Given the description of an element on the screen output the (x, y) to click on. 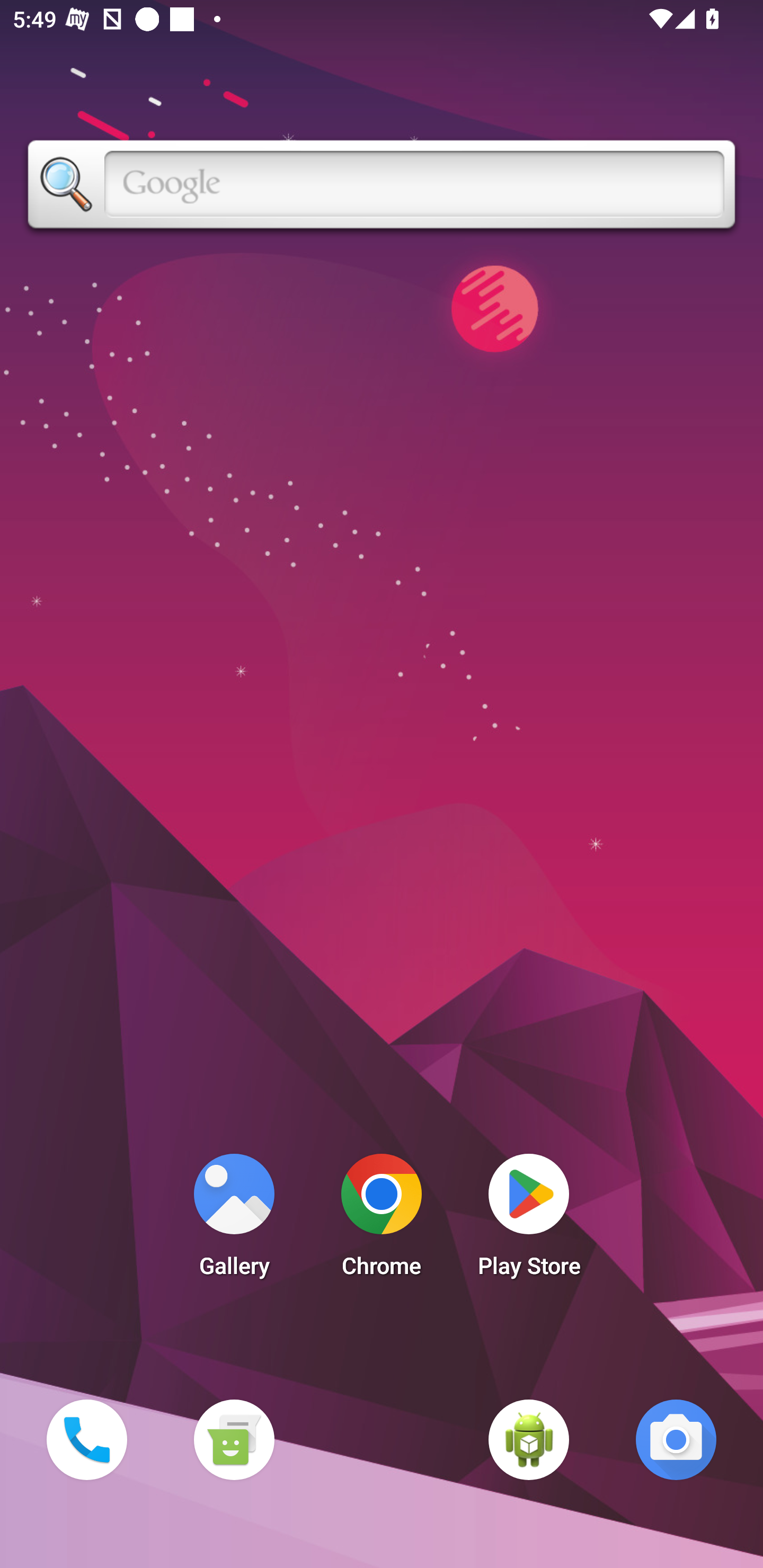
Gallery (233, 1220)
Chrome (381, 1220)
Play Store (528, 1220)
Phone (86, 1439)
Messaging (233, 1439)
WebView Browser Tester (528, 1439)
Camera (676, 1439)
